Given the description of an element on the screen output the (x, y) to click on. 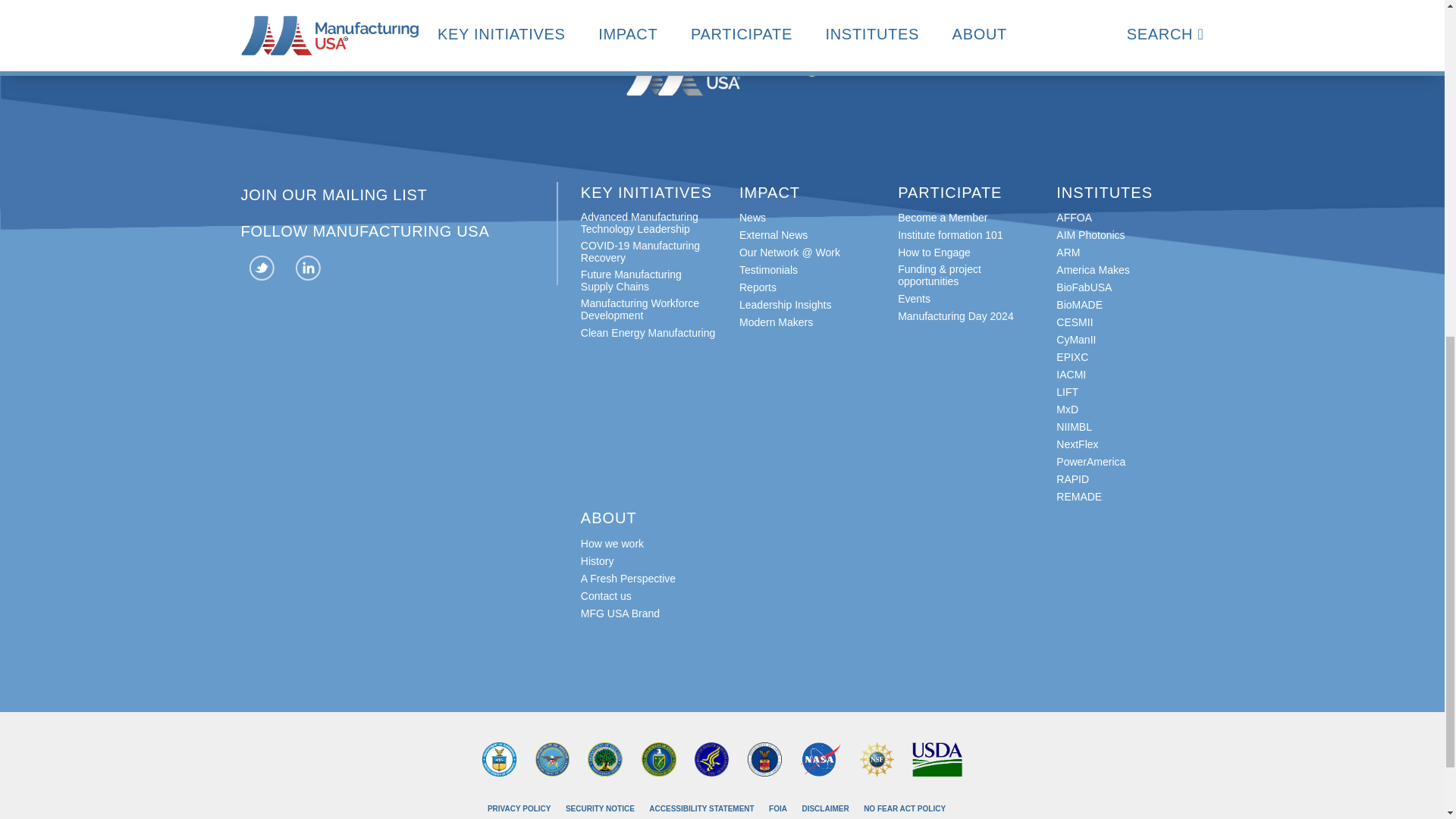
National Science Foundation (876, 758)
National Aeronautics and Space Administration (820, 758)
Department of Education (604, 758)
LinkedIn (308, 270)
Department of Health and Human Services (711, 758)
Department of Labor (764, 758)
Department of Energy (658, 758)
twitter (262, 270)
Department of Commerce (499, 758)
Department of Defense (551, 758)
U.S. Department of Agriculture (936, 758)
